Given the description of an element on the screen output the (x, y) to click on. 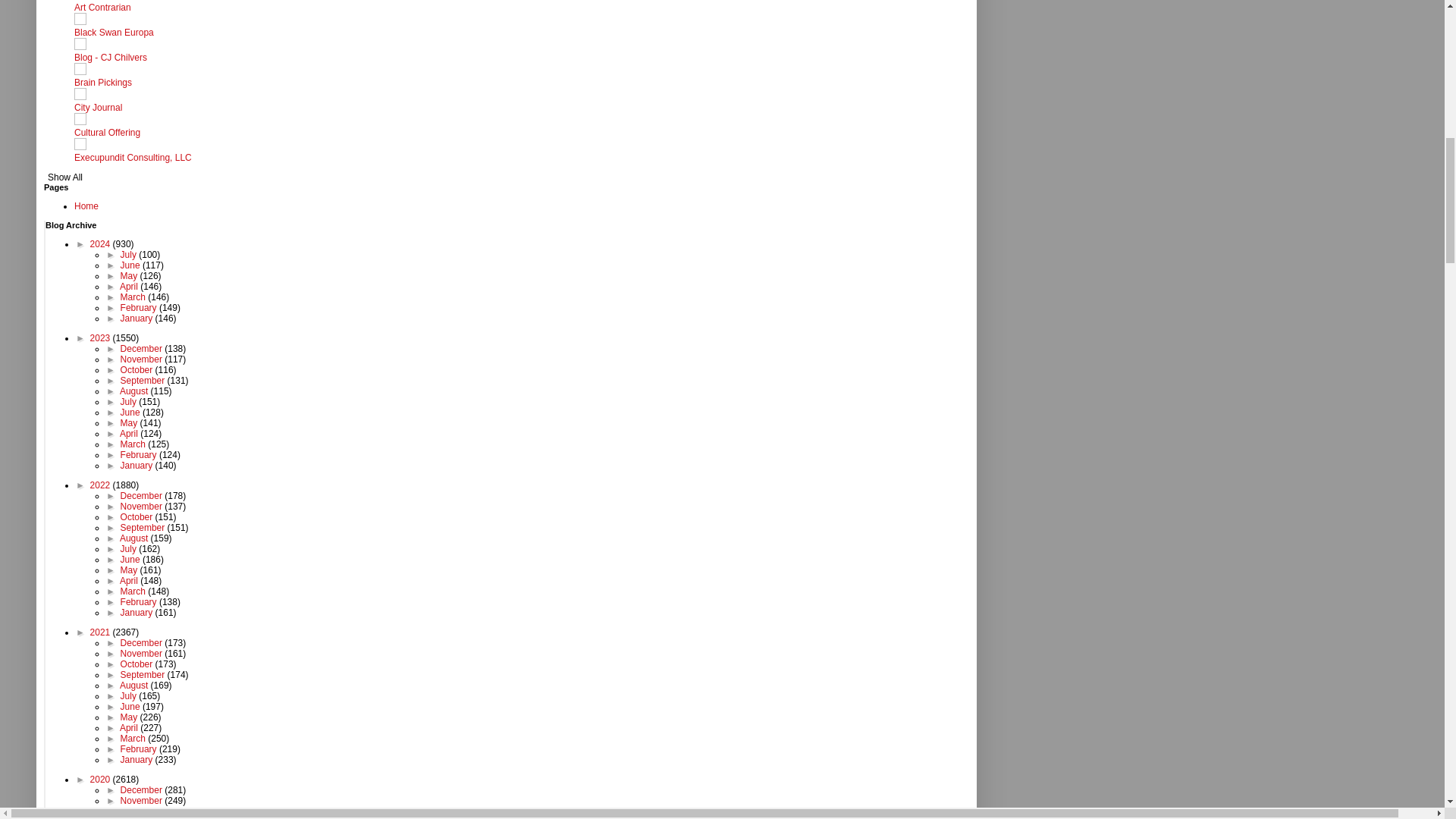
Art Contrarian (102, 7)
Execupundit Consulting, LLC (133, 157)
Blog - CJ Chilvers (110, 57)
City Journal (98, 107)
Black Swan Europa (114, 32)
Cultural Offering (106, 132)
Brain Pickings (103, 81)
